Given the description of an element on the screen output the (x, y) to click on. 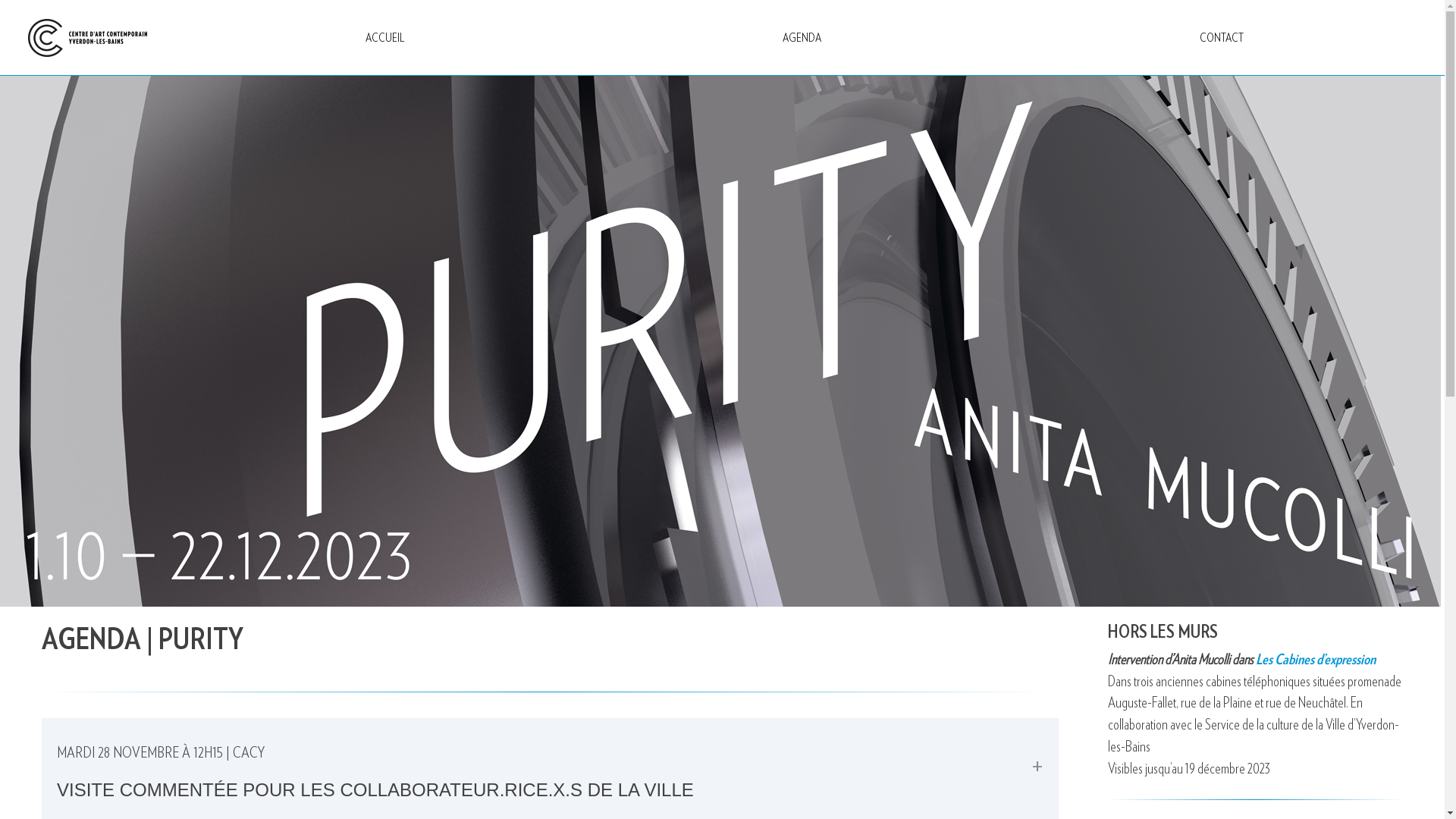
ACCUEIL Element type: text (384, 37)
CONTACT Element type: text (1221, 37)
AGENDA Element type: text (801, 37)
